Given the description of an element on the screen output the (x, y) to click on. 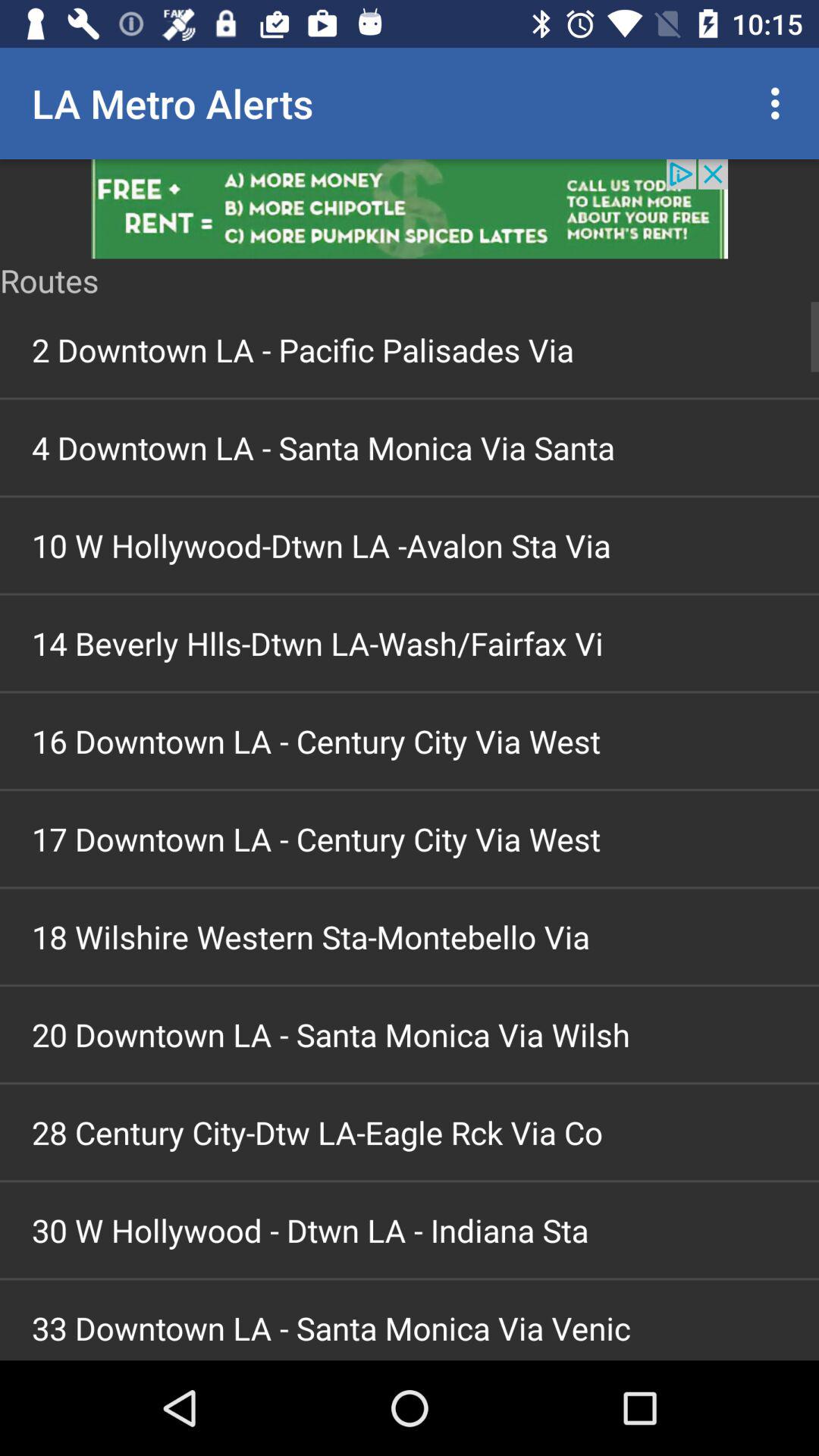
advertisements image (409, 208)
